Given the description of an element on the screen output the (x, y) to click on. 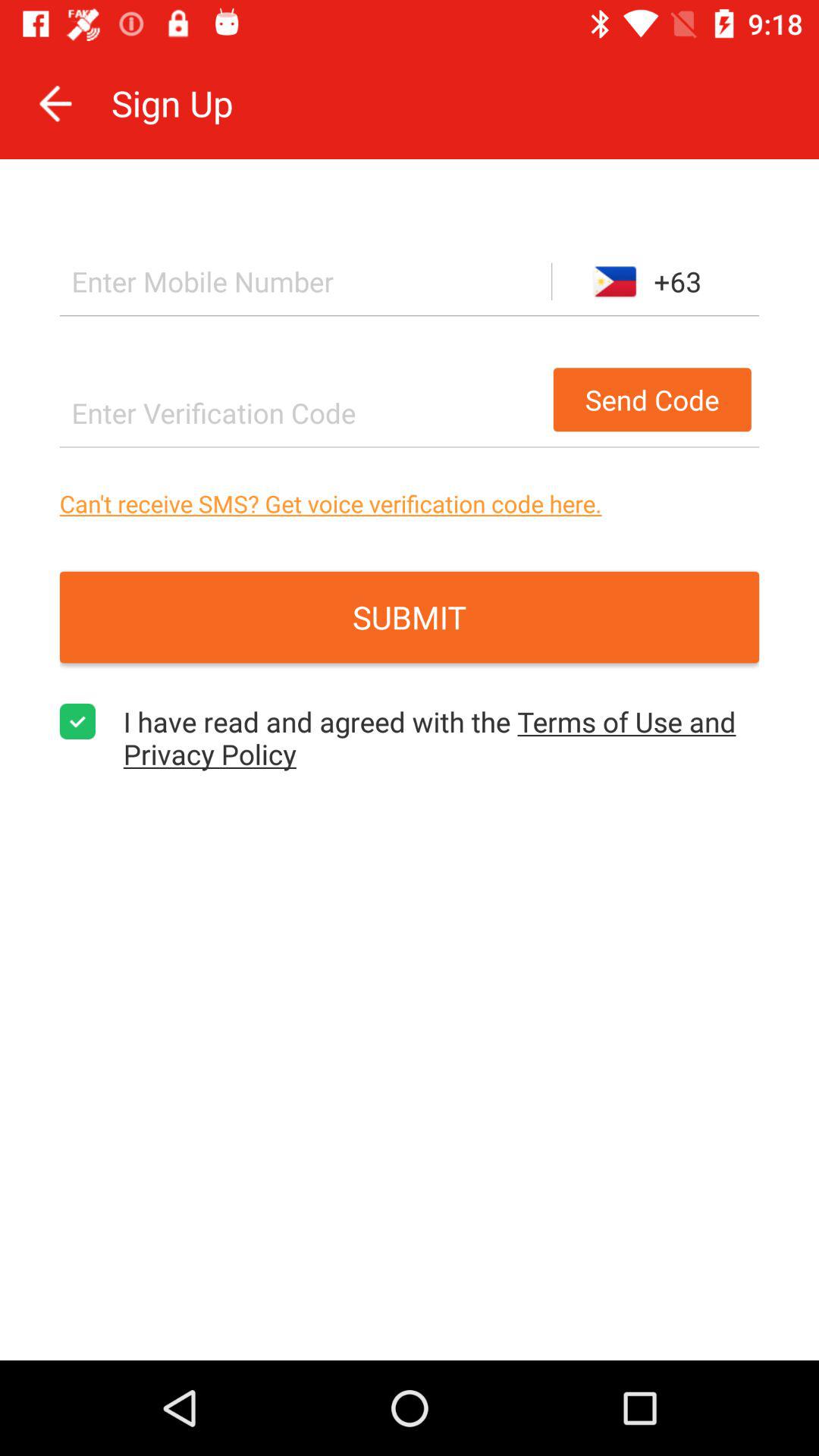
launch the item below can t receive icon (409, 617)
